Given the description of an element on the screen output the (x, y) to click on. 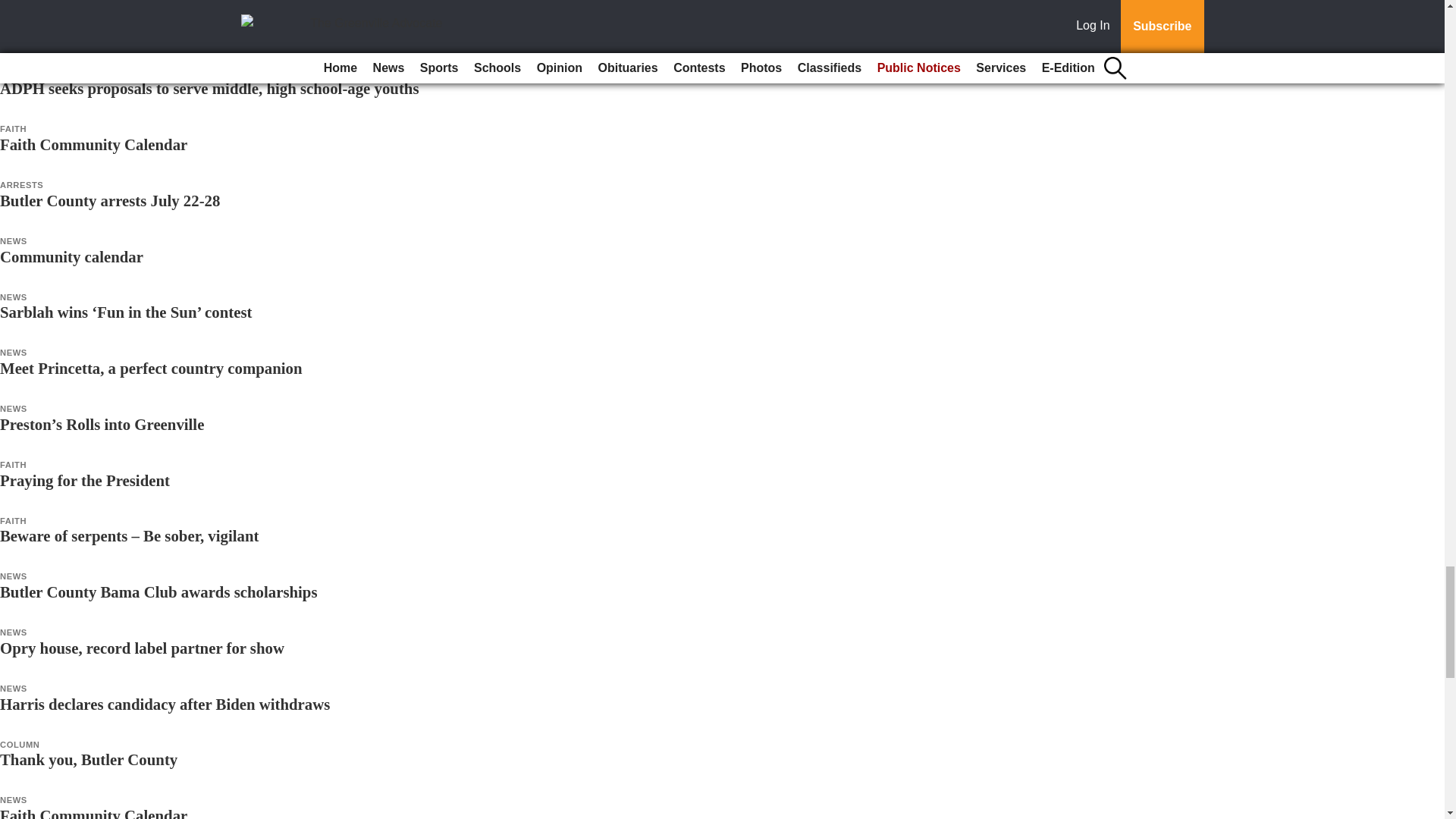
Norman McGowin provides decades of dedicated care (181, 32)
Harris declares candidacy after Biden withdraws (165, 703)
Faith Community Calendar (93, 144)
Butler County Bama Club awards scholarships (158, 591)
Butler County arrests July 22-28 (109, 200)
Meet Princetta, a perfect country companion (150, 367)
Thank you, Butler County (88, 759)
ADPH seeks proposals to serve middle, high school-age youths (209, 88)
ADPH seeks proposals to serve middle, high school-age youths (209, 88)
Community calendar (71, 256)
Opry house, record label partner for show (141, 647)
Praying for the President (85, 479)
Norman McGowin provides decades of dedicated care (181, 32)
Faith Community Calendar (93, 812)
